Given the description of an element on the screen output the (x, y) to click on. 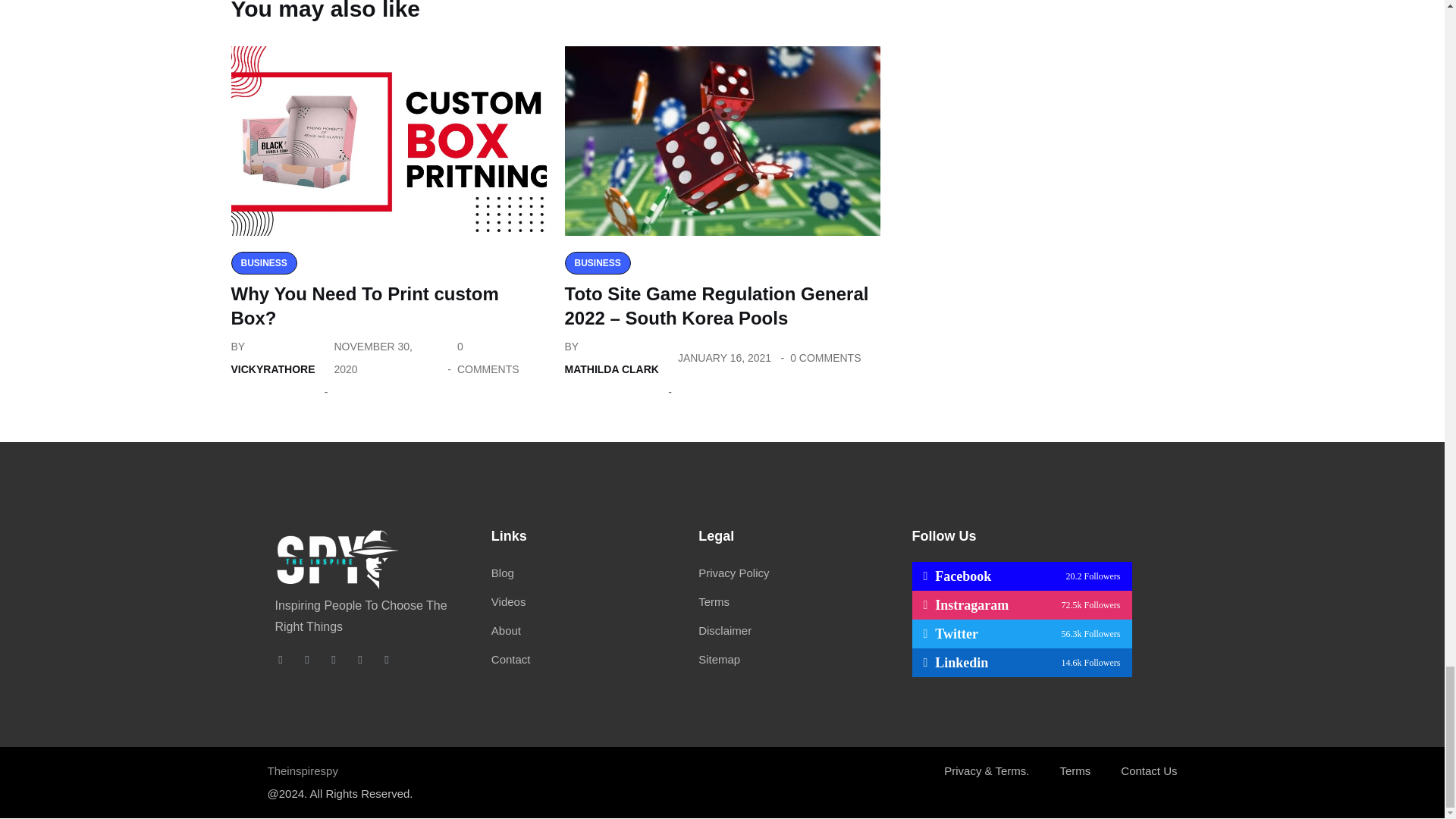
Posts by Mathilda Clark (611, 368)
Posts by vickyrathore (272, 368)
